Given the description of an element on the screen output the (x, y) to click on. 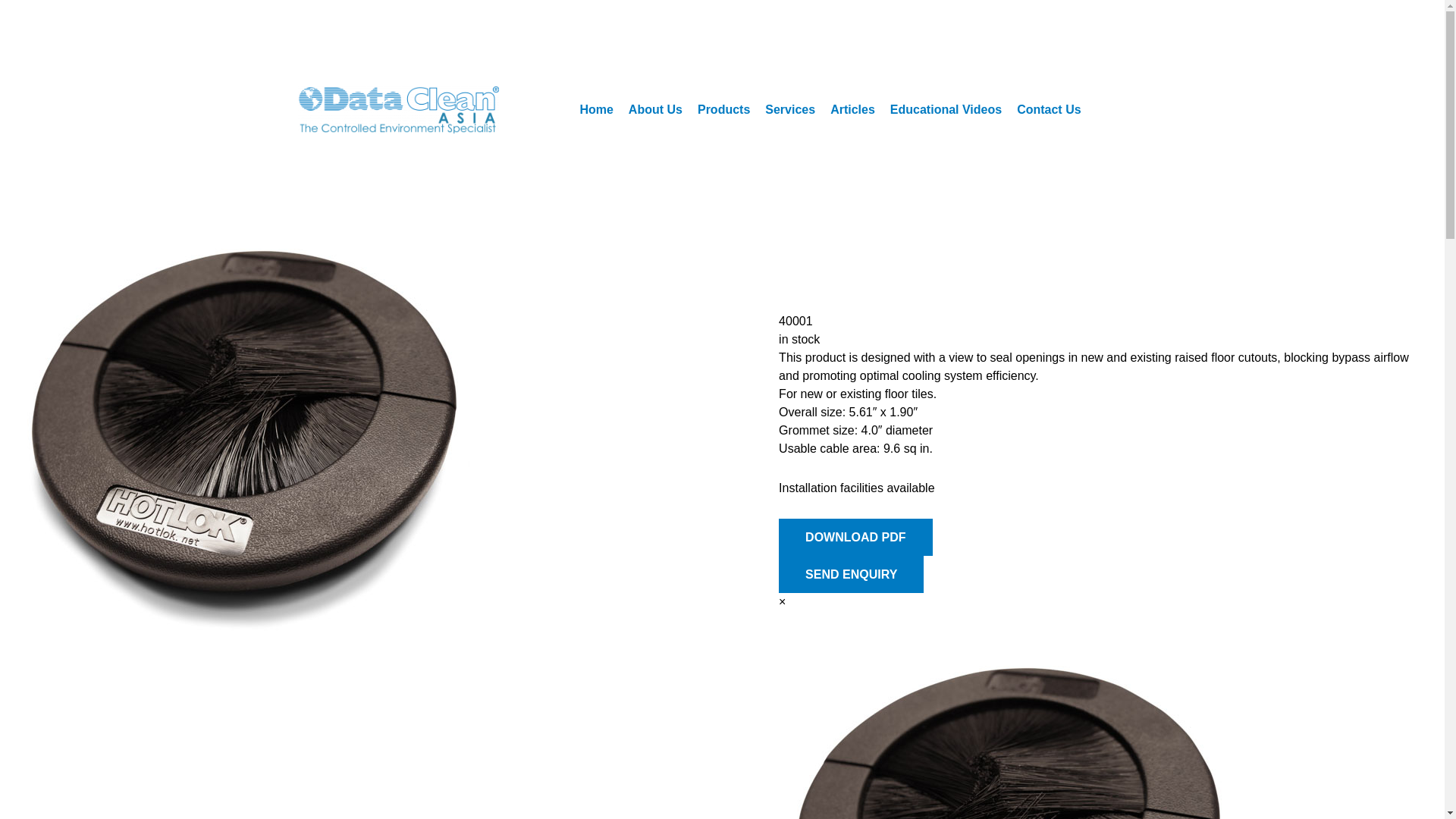
Products (723, 109)
Articles (852, 109)
About Us (655, 109)
Contact Us (1048, 109)
Services (789, 109)
Educational Videos (945, 109)
Home (596, 109)
